Given the description of an element on the screen output the (x, y) to click on. 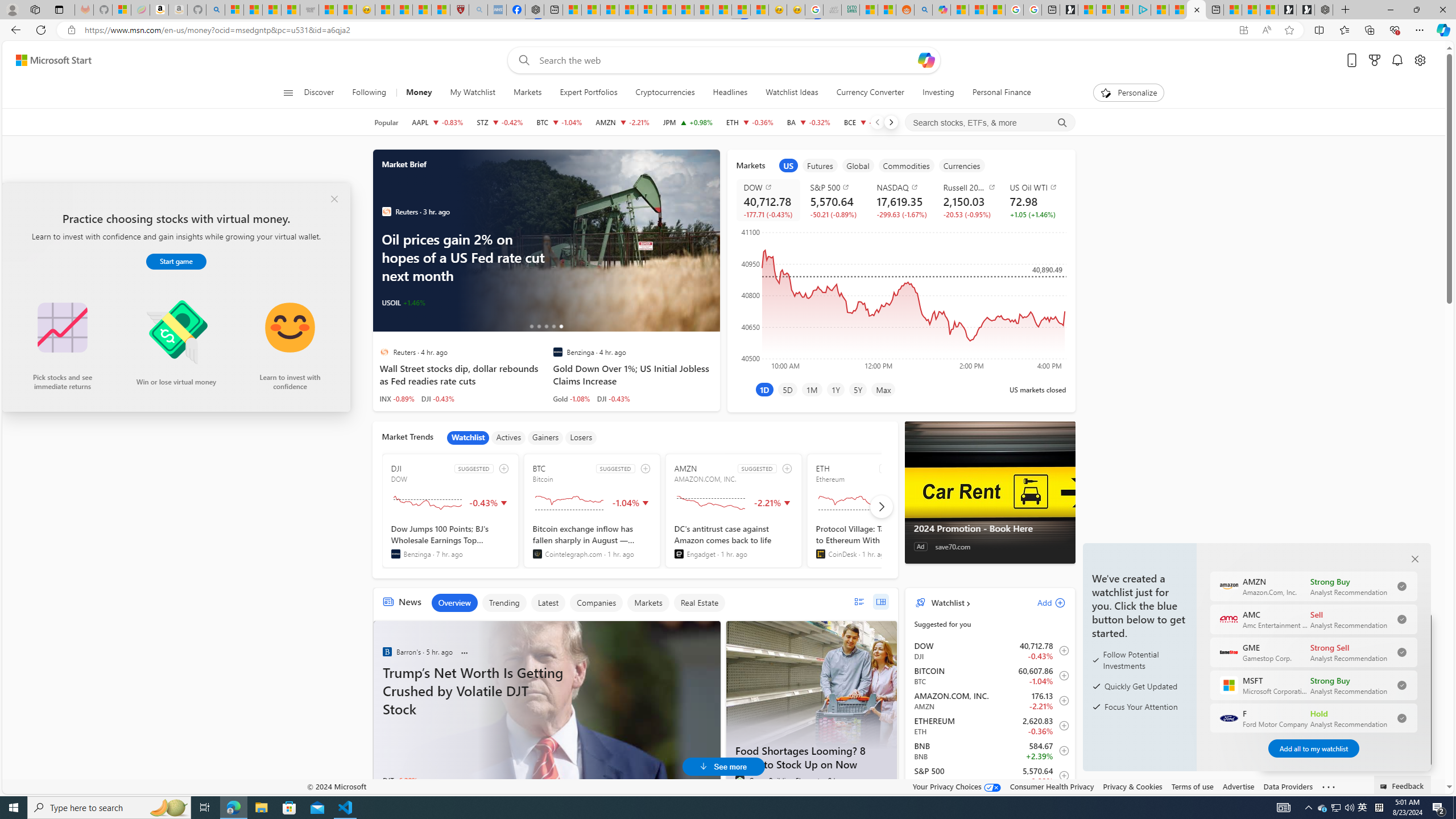
Data Providers (1288, 786)
Reuters (384, 351)
DITOGAMES AG Imprint (850, 9)
Microsoft-Report a Concern to Bing (121, 9)
Currency Converter (869, 92)
Browser essentials (1394, 29)
DC's antitrust case against Amazon comes back to life (733, 540)
5Y (857, 389)
ETH SUGGESTED Ethereum (874, 510)
Refresh (40, 29)
Gainers (545, 437)
Trending (504, 602)
AMZN AMAZON.COM, INC. decrease 176.13 -3.98 -2.21% (622, 122)
